Given the description of an element on the screen output the (x, y) to click on. 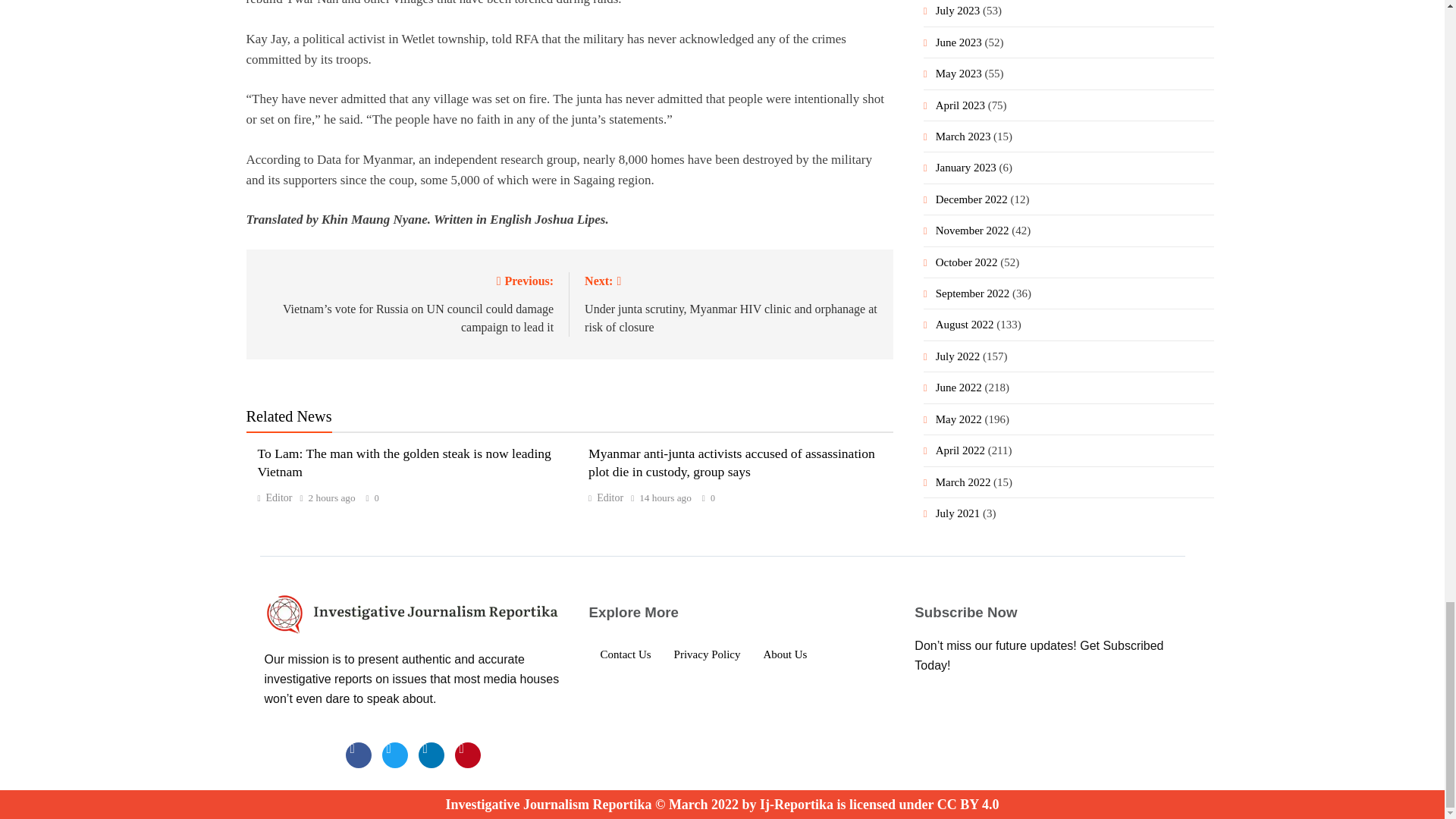
Editor (274, 497)
2 hours ago (331, 498)
To Lam: The man with the golden steak is now leading Vietnam (404, 462)
